Given the description of an element on the screen output the (x, y) to click on. 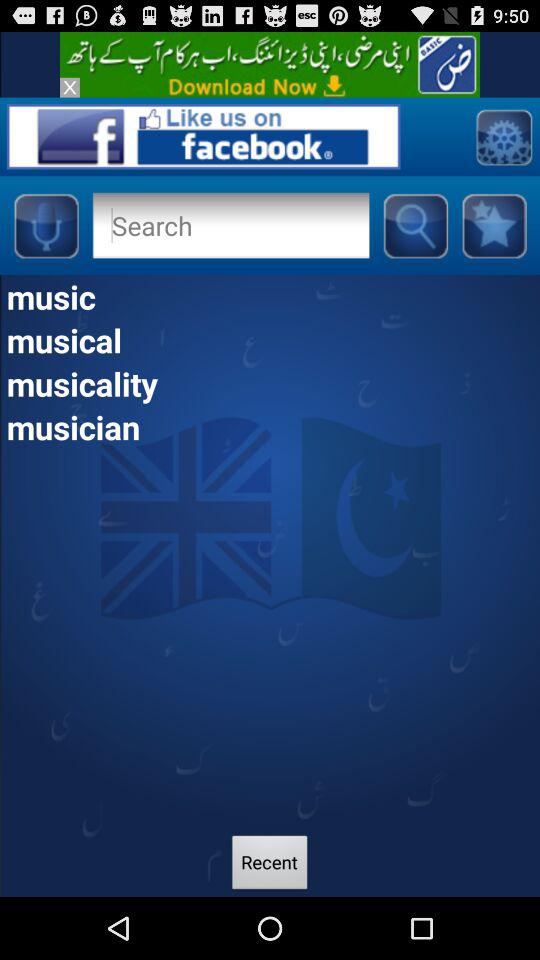
to like on facebook (203, 136)
